Given the description of an element on the screen output the (x, y) to click on. 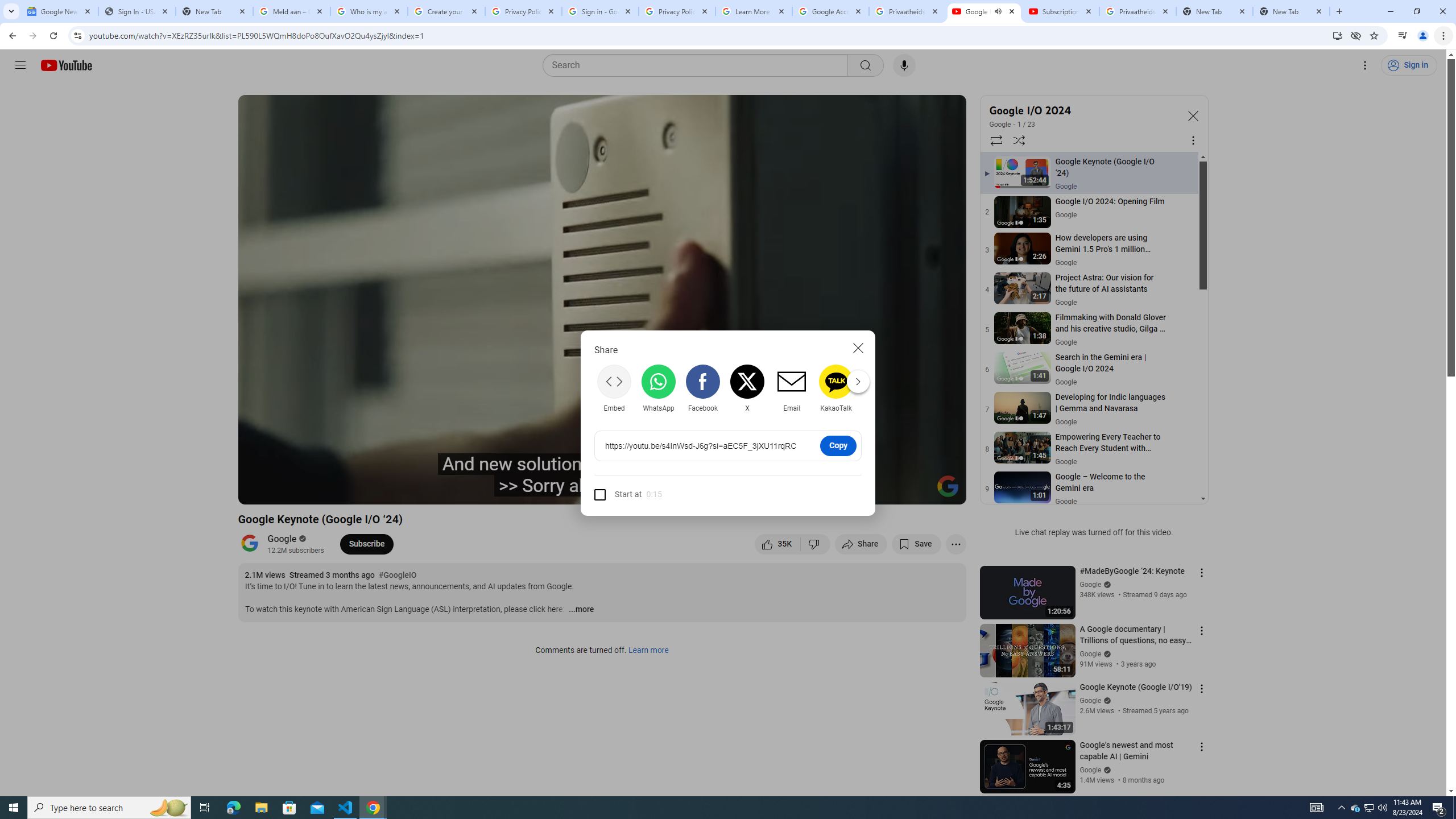
X (747, 387)
Shuffle playlist (1018, 140)
KakaoTalk (836, 387)
Collapse (1192, 115)
WhatsApp (658, 387)
AutomationID: share-url (703, 445)
Miniplayer (i) (890, 490)
Copy (837, 445)
Channel watermark (947, 486)
Theater mode (t) (917, 490)
